Given the description of an element on the screen output the (x, y) to click on. 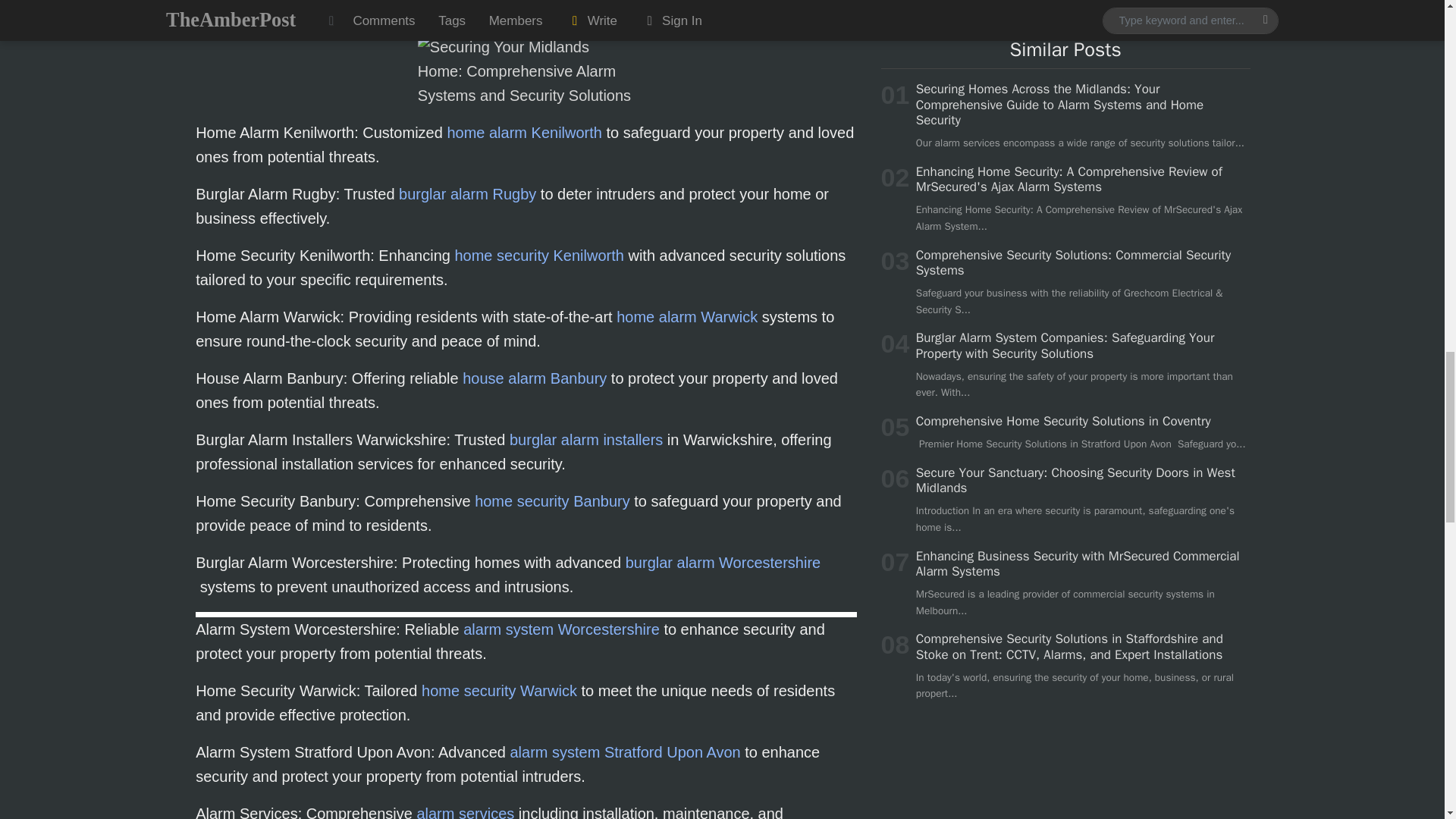
home alarm Kenilworth (524, 132)
burglar alarm Rugby (466, 193)
home security Kenilworth (538, 255)
